Given the description of an element on the screen output the (x, y) to click on. 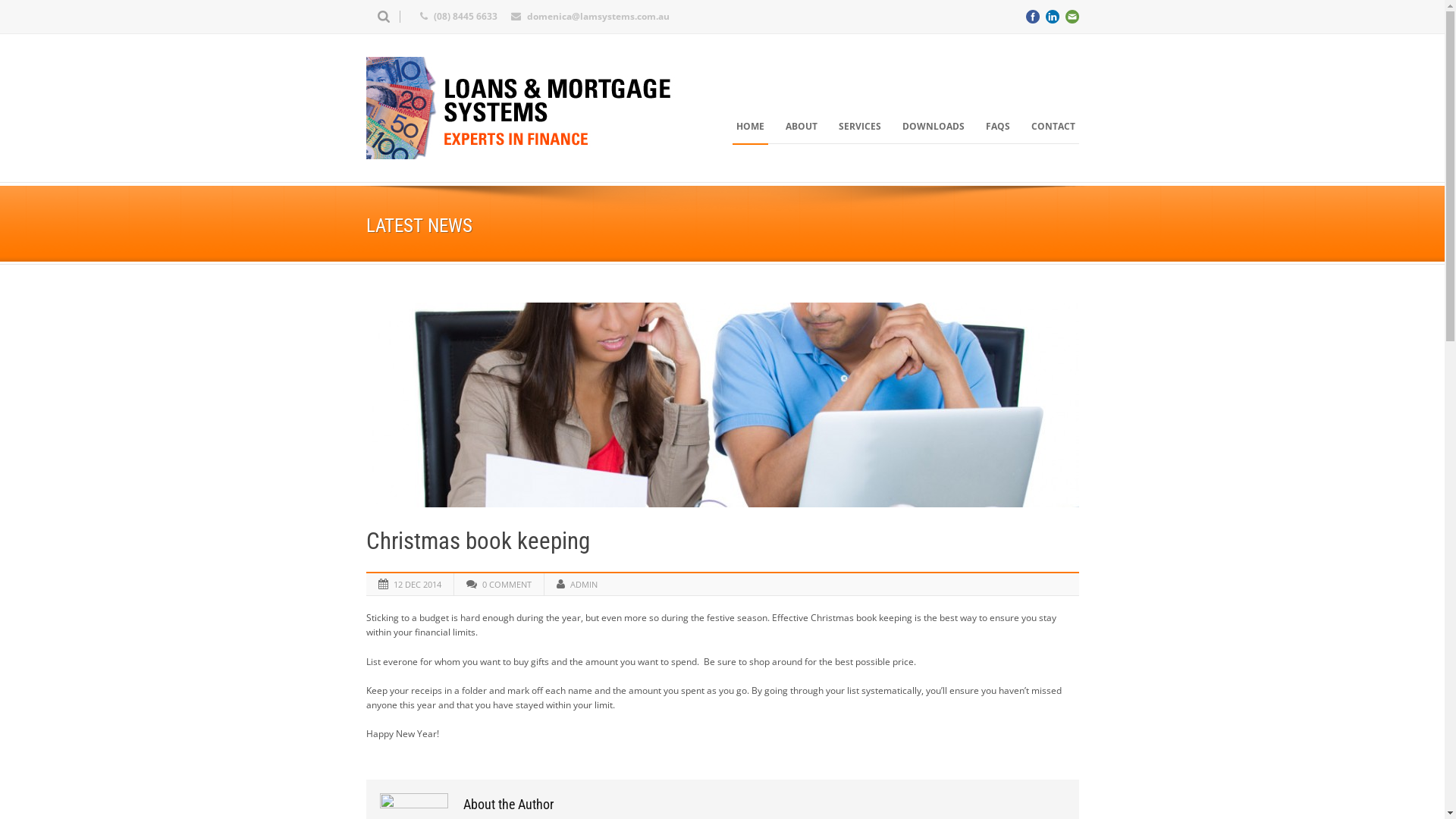
DOWNLOADS Element type: text (932, 126)
HOME Element type: text (750, 126)
CONTACT Element type: text (1052, 126)
12 DEC 2014 Element type: text (416, 583)
ABOUT Element type: text (800, 126)
domenica@lamsystems.com.au Element type: text (597, 15)
Christmas book keeping Element type: text (477, 541)
FAQS Element type: text (997, 126)
Christmas book keeping Element type: hover (721, 404)
0 COMMENT Element type: text (506, 583)
ADMIN Element type: text (583, 583)
SERVICES Element type: text (859, 126)
